Given the description of an element on the screen output the (x, y) to click on. 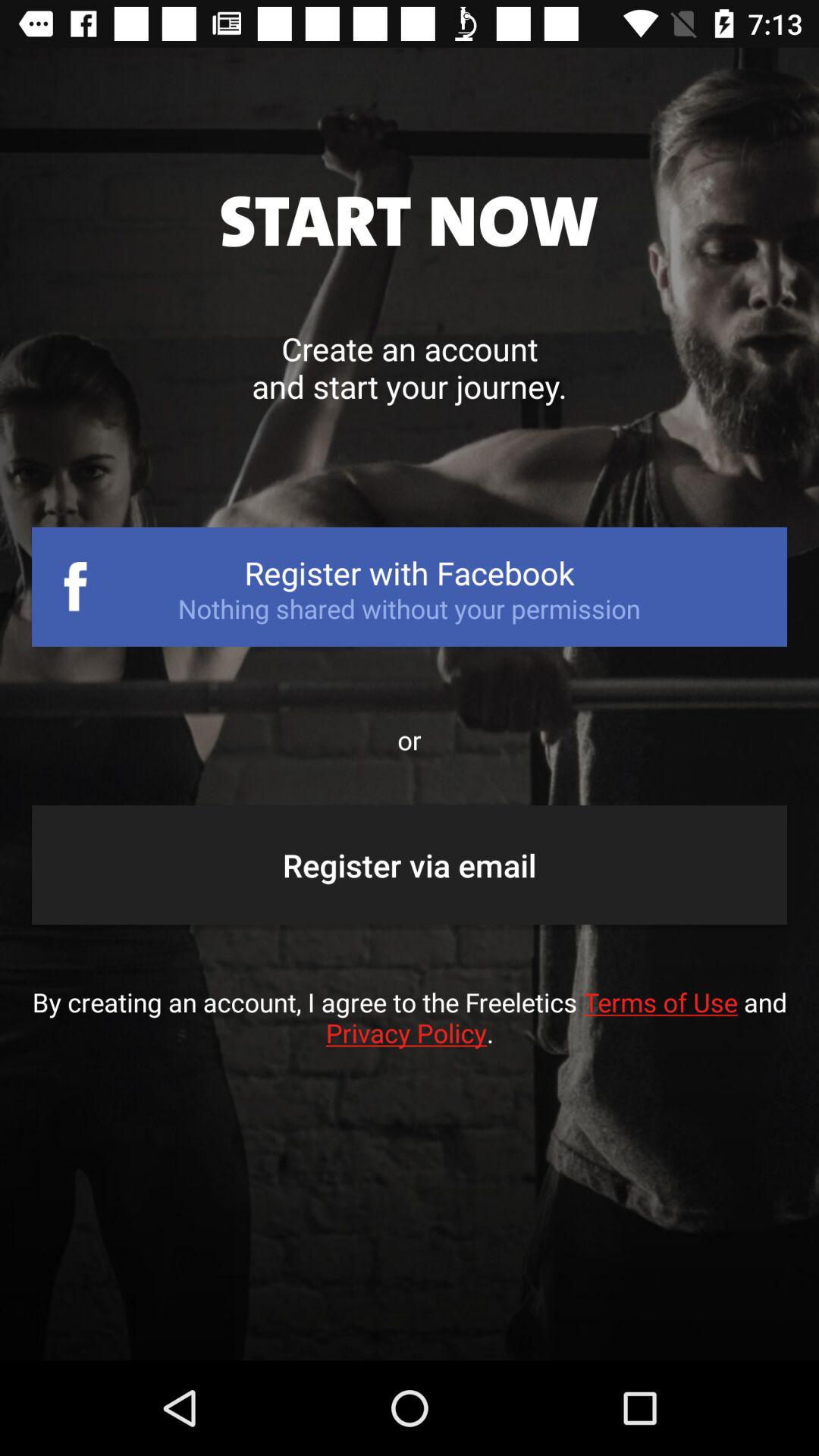
select the icon above the by creating an (409, 864)
